Given the description of an element on the screen output the (x, y) to click on. 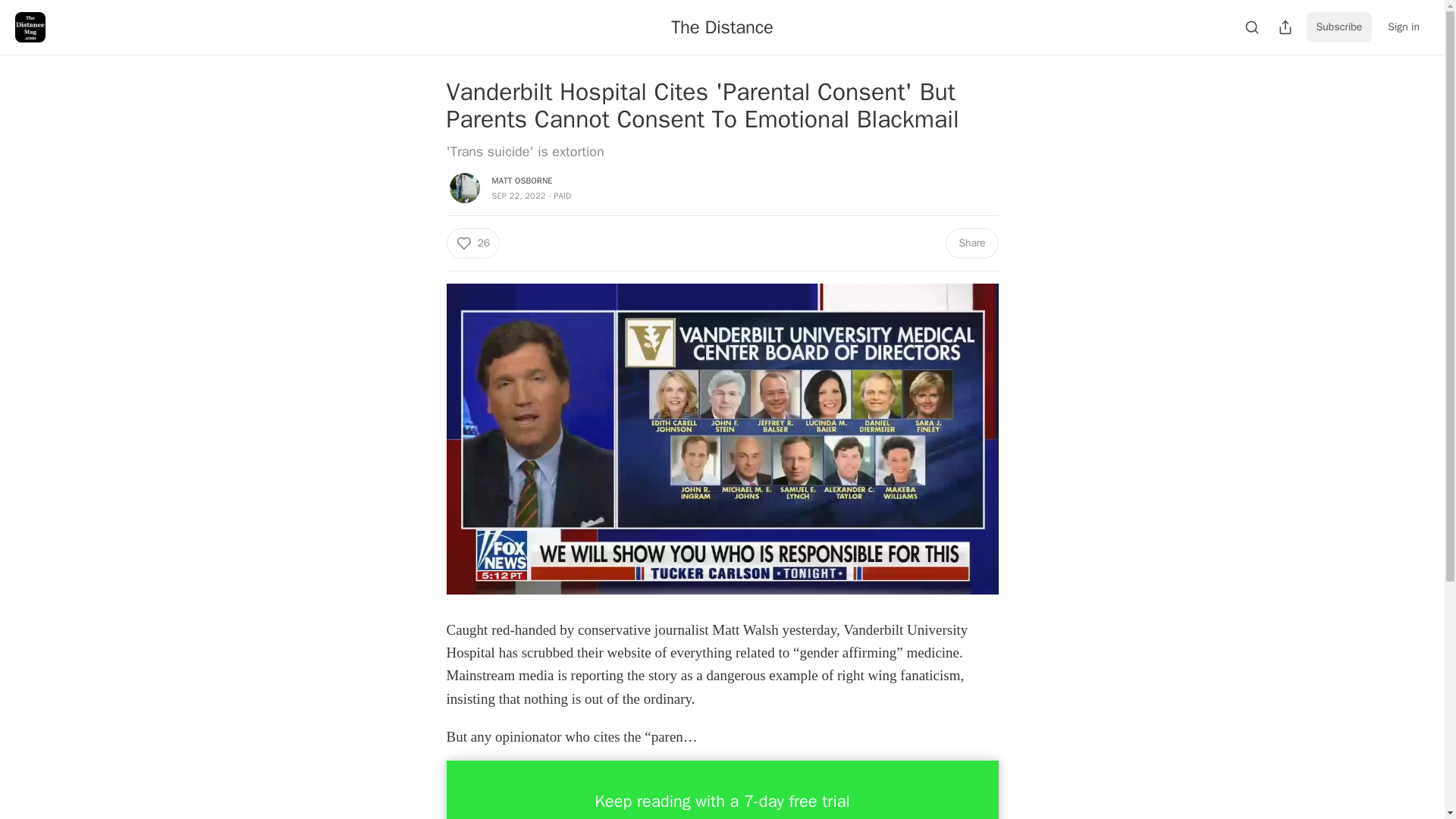
The Distance (722, 26)
MATT OSBORNE (521, 180)
26 (472, 243)
Sign in (1403, 27)
Share (970, 243)
Subscribe (1339, 27)
